Given the description of an element on the screen output the (x, y) to click on. 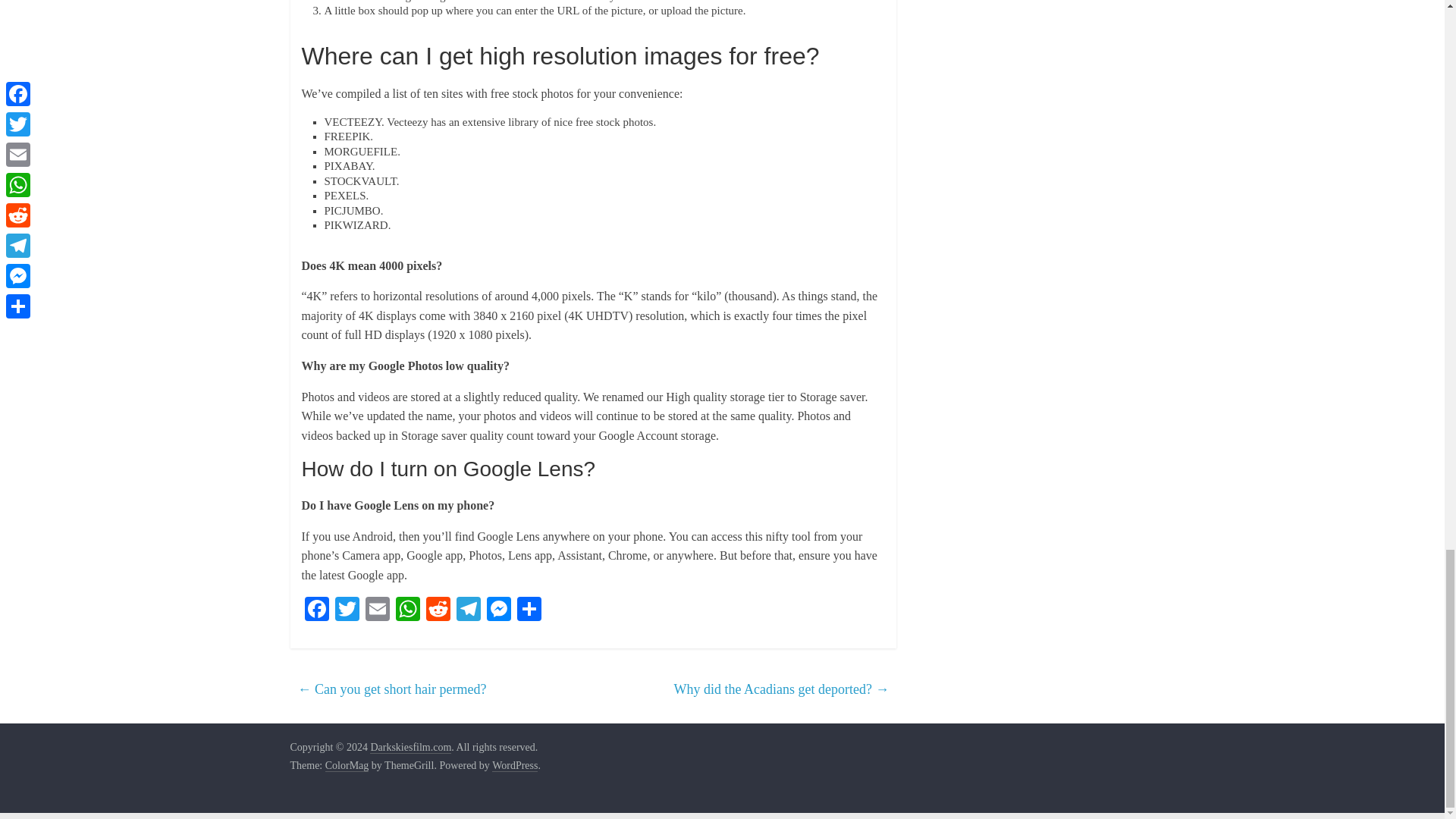
ColorMag (346, 766)
Facebook (316, 610)
Email (377, 610)
WhatsApp (408, 610)
Share (528, 610)
Darkskiesfilm.com (410, 747)
WordPress (514, 766)
Facebook (316, 610)
Twitter (346, 610)
Messenger (498, 610)
Telegram (467, 610)
Reddit (437, 610)
Reddit (437, 610)
Twitter (346, 610)
Darkskiesfilm.com (410, 747)
